Given the description of an element on the screen output the (x, y) to click on. 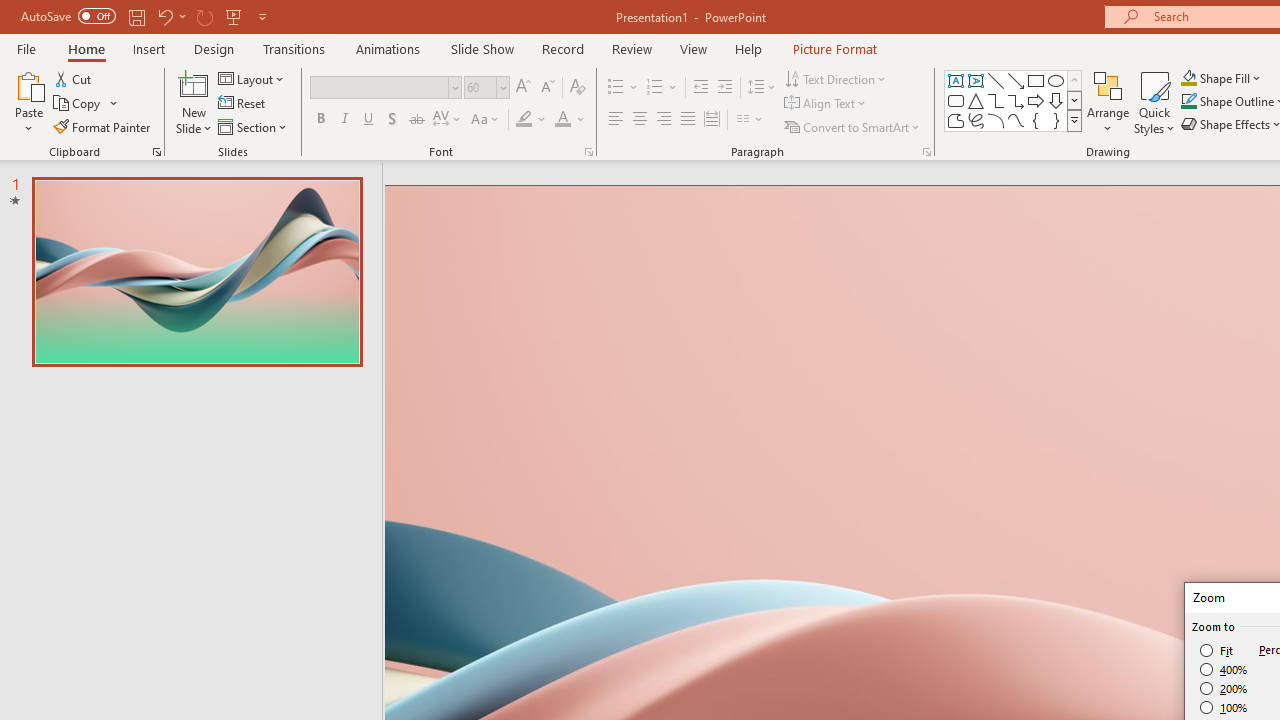
Shape Outline Blue, Accent 1 (1188, 101)
